Given the description of an element on the screen output the (x, y) to click on. 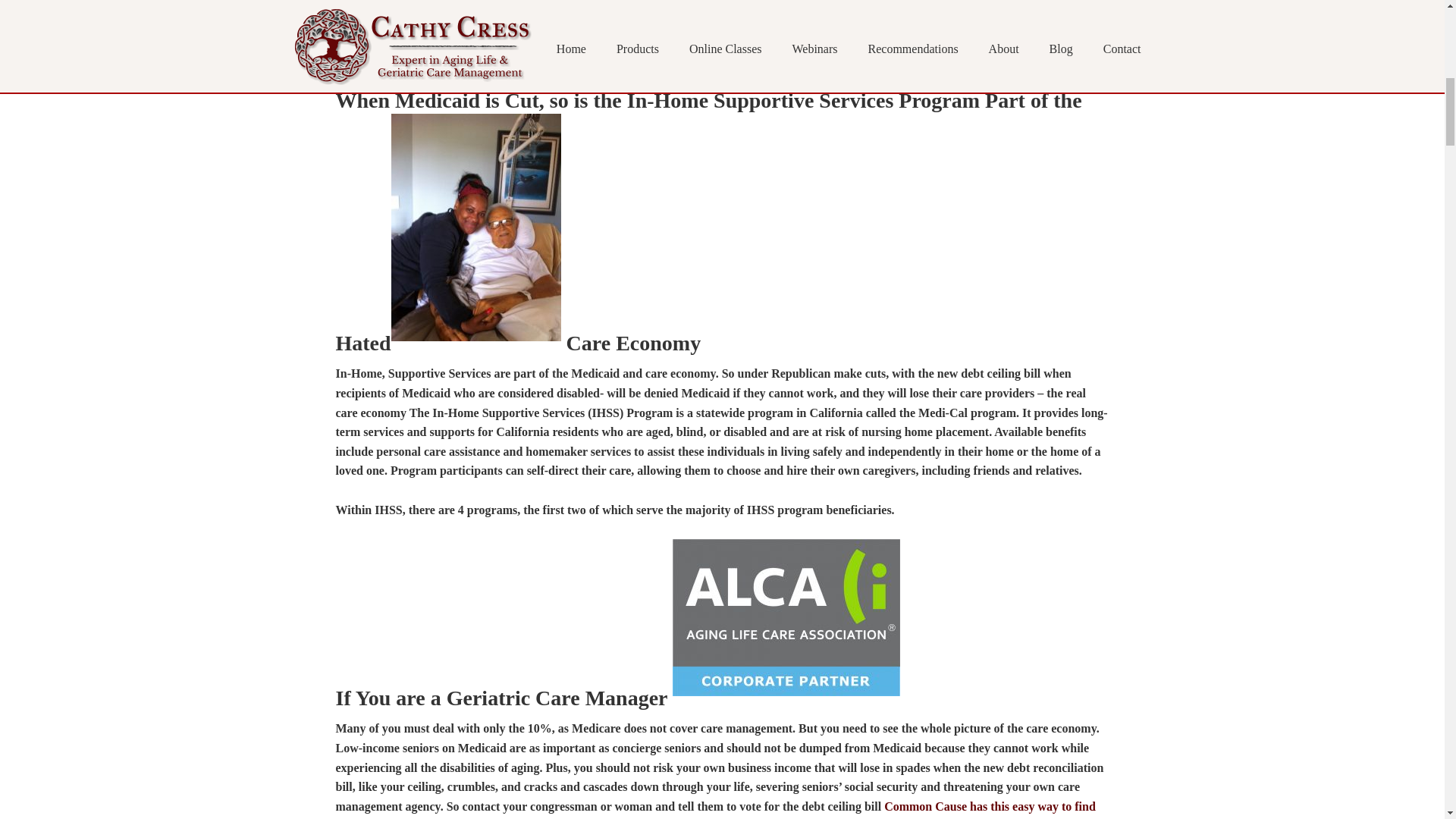
Common Cause has this (947, 806)
easy way to find and contact your congressman (714, 809)
